Given the description of an element on the screen output the (x, y) to click on. 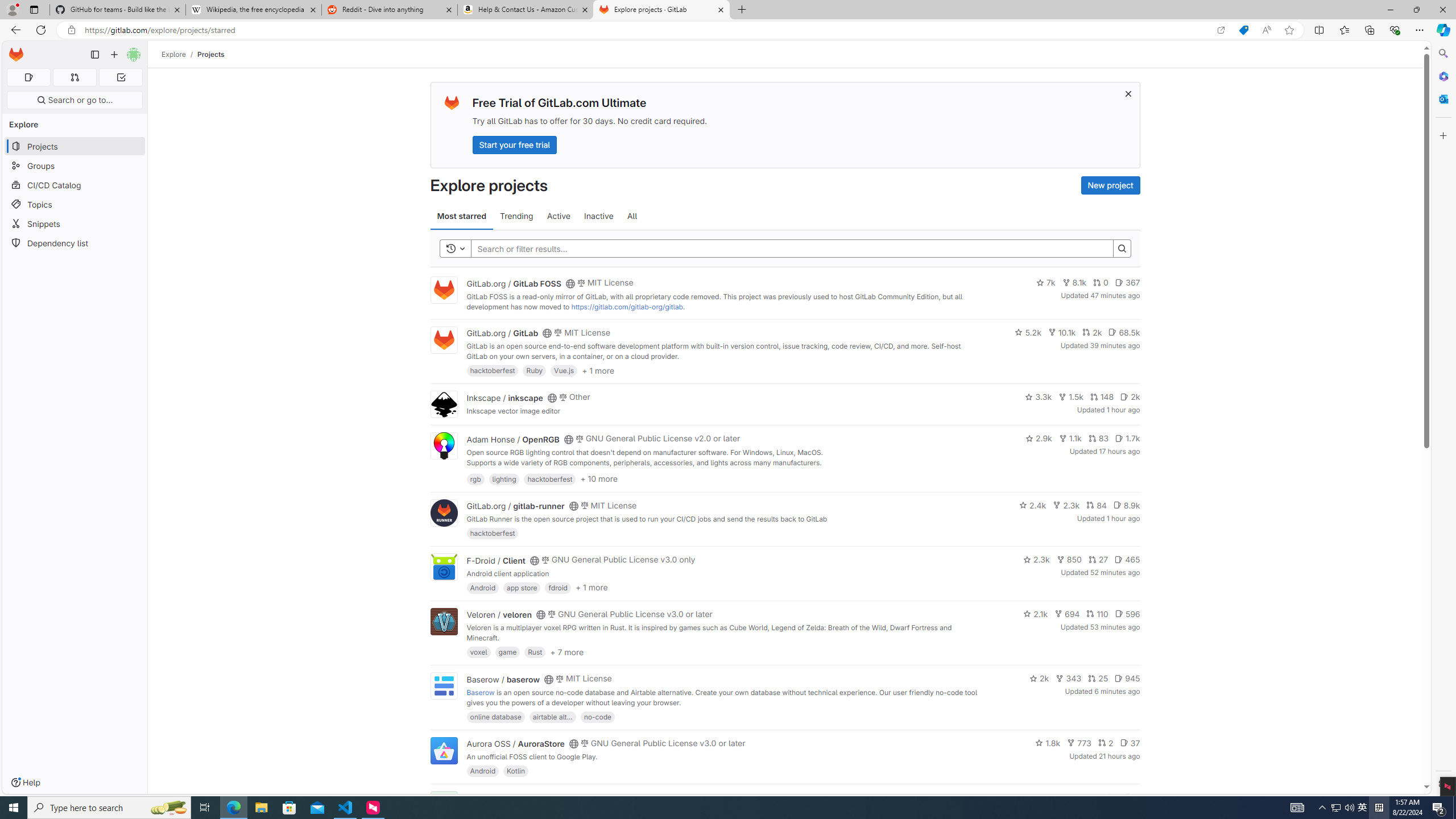
Open in app (1220, 29)
Topics (74, 203)
68.5k (1124, 331)
no-code (597, 715)
Merge requests 0 (74, 76)
Veloren / veloren (498, 614)
Class: s16 gl-icon gl-button-icon  (1127, 93)
Dismiss trial promotion (1128, 93)
+ 10 more (599, 478)
Android (482, 770)
83 (1098, 438)
game (507, 651)
343 (1068, 678)
